Given the description of an element on the screen output the (x, y) to click on. 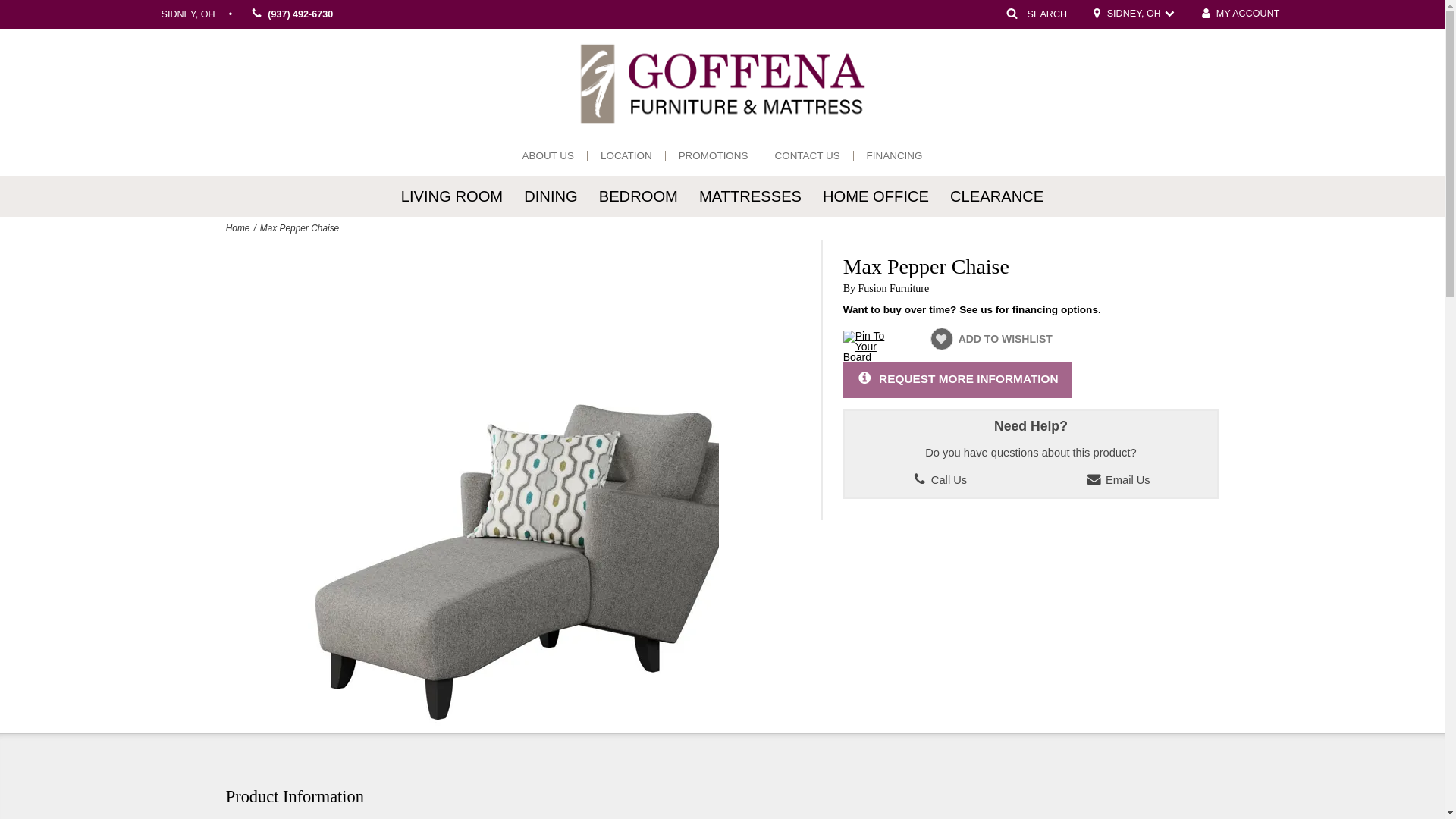
LIVING ROOM (451, 196)
MY ACCOUNT (1238, 14)
My Account (1238, 14)
Pin This (865, 357)
DINING (550, 196)
FINANCING (894, 154)
PROMOTIONS (713, 154)
Store details (1132, 14)
CONTACT US (806, 154)
LOCATION (626, 154)
